Given the description of an element on the screen output the (x, y) to click on. 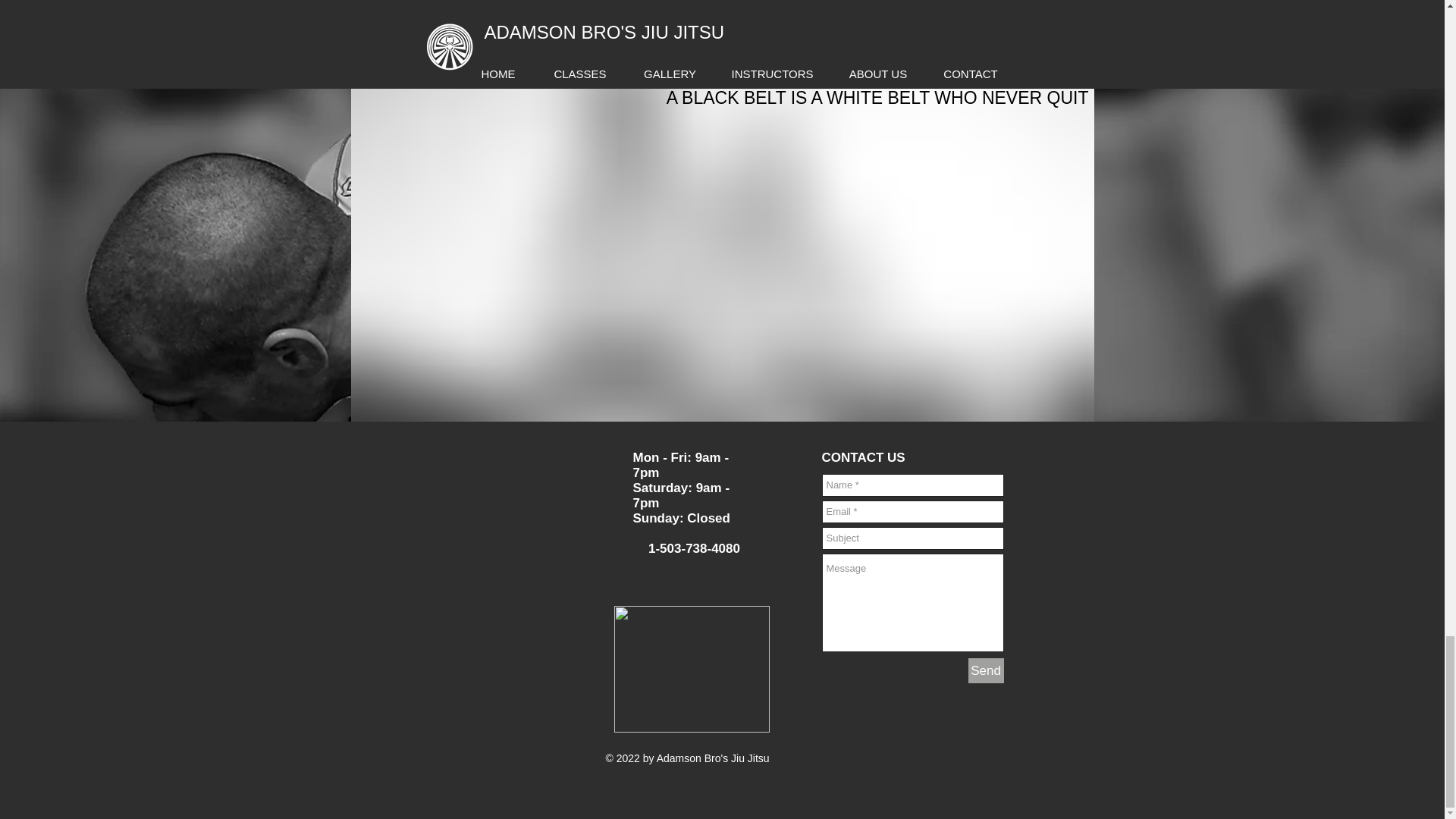
Send (985, 670)
